Given the description of an element on the screen output the (x, y) to click on. 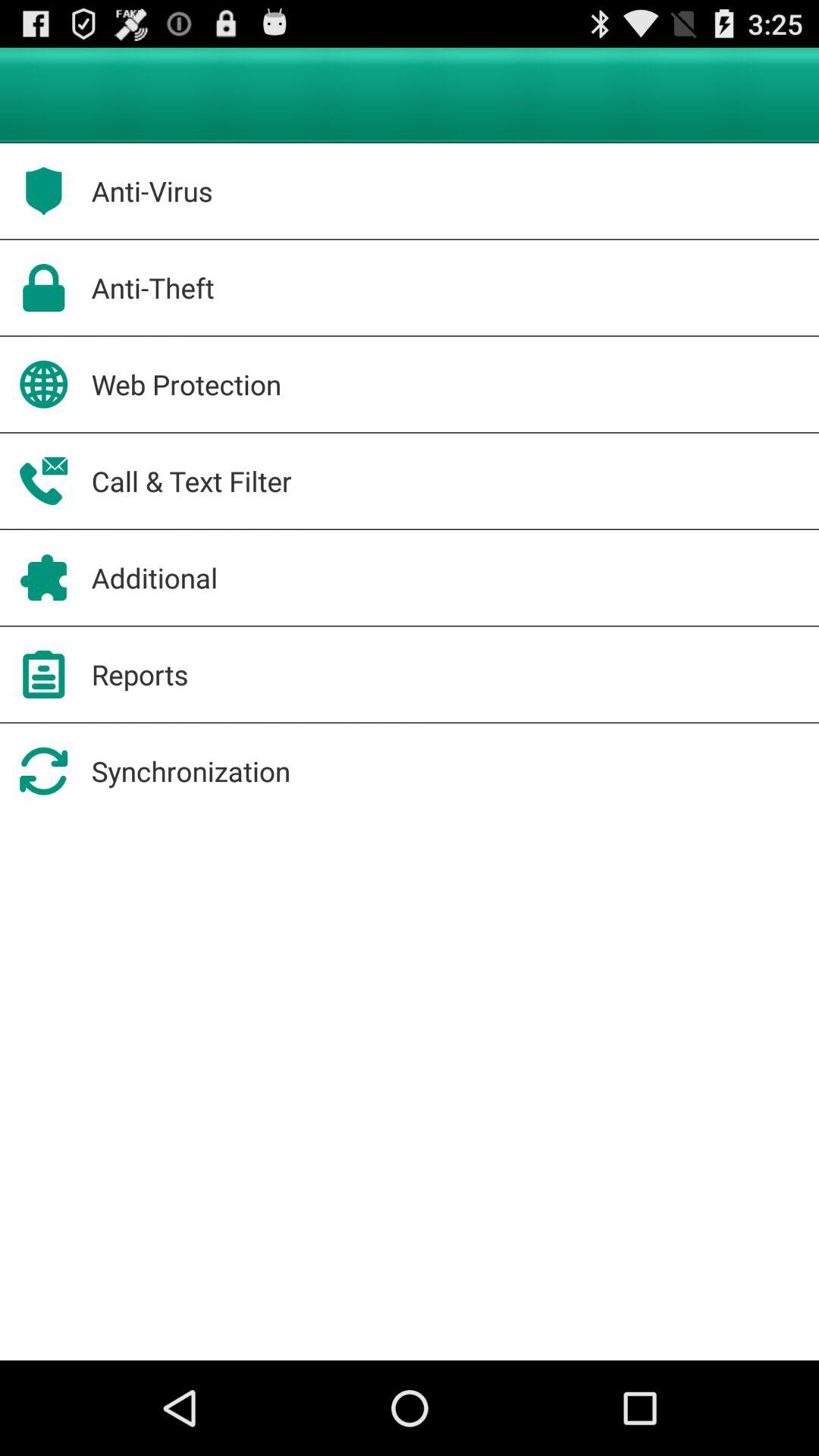
click the app below anti-theft item (186, 384)
